Given the description of an element on the screen output the (x, y) to click on. 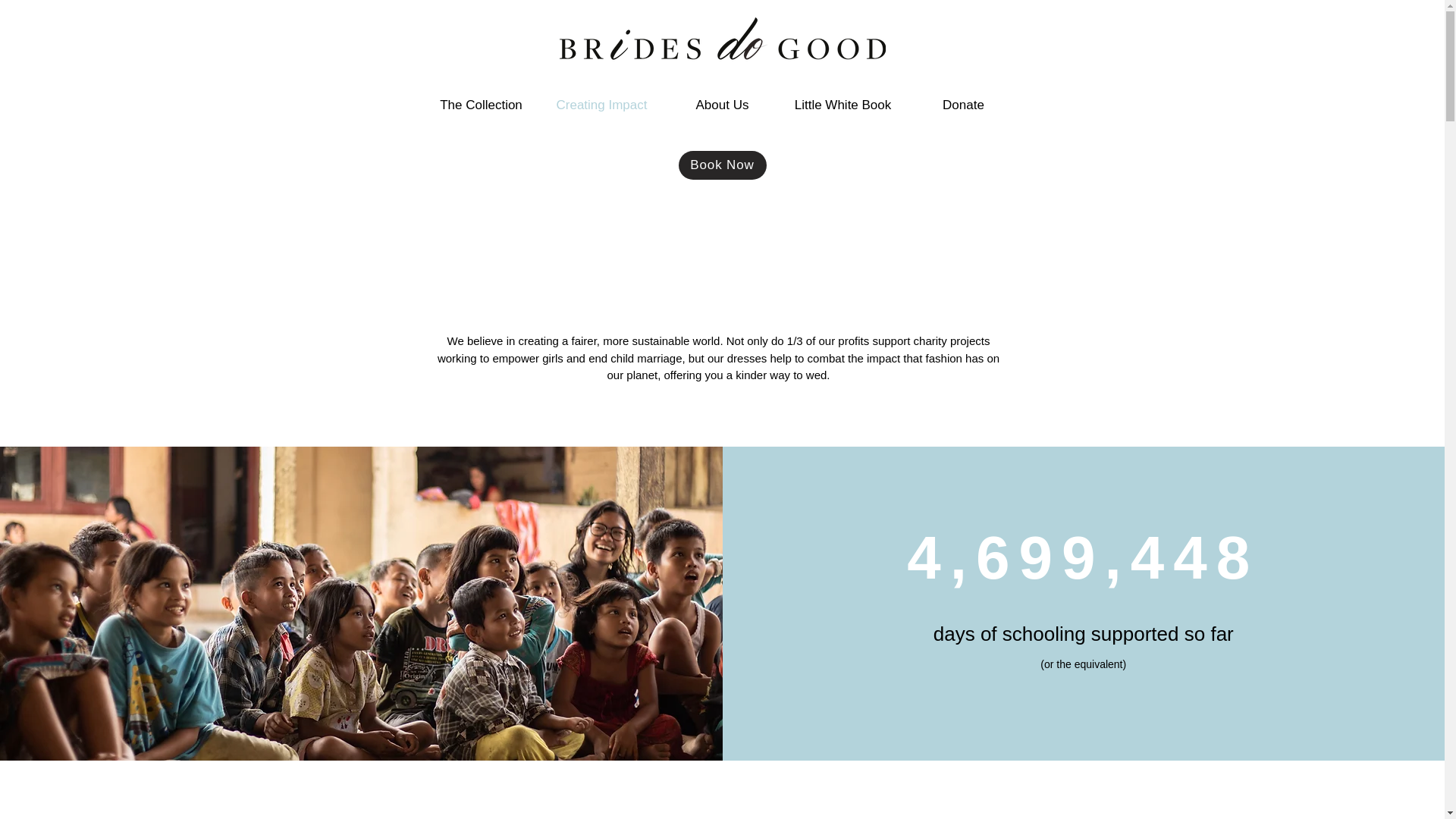
Creating Impact (601, 105)
About Us (722, 105)
Book Now (721, 164)
The Collection (480, 105)
Donate (962, 105)
Little White Book (842, 105)
